Given the description of an element on the screen output the (x, y) to click on. 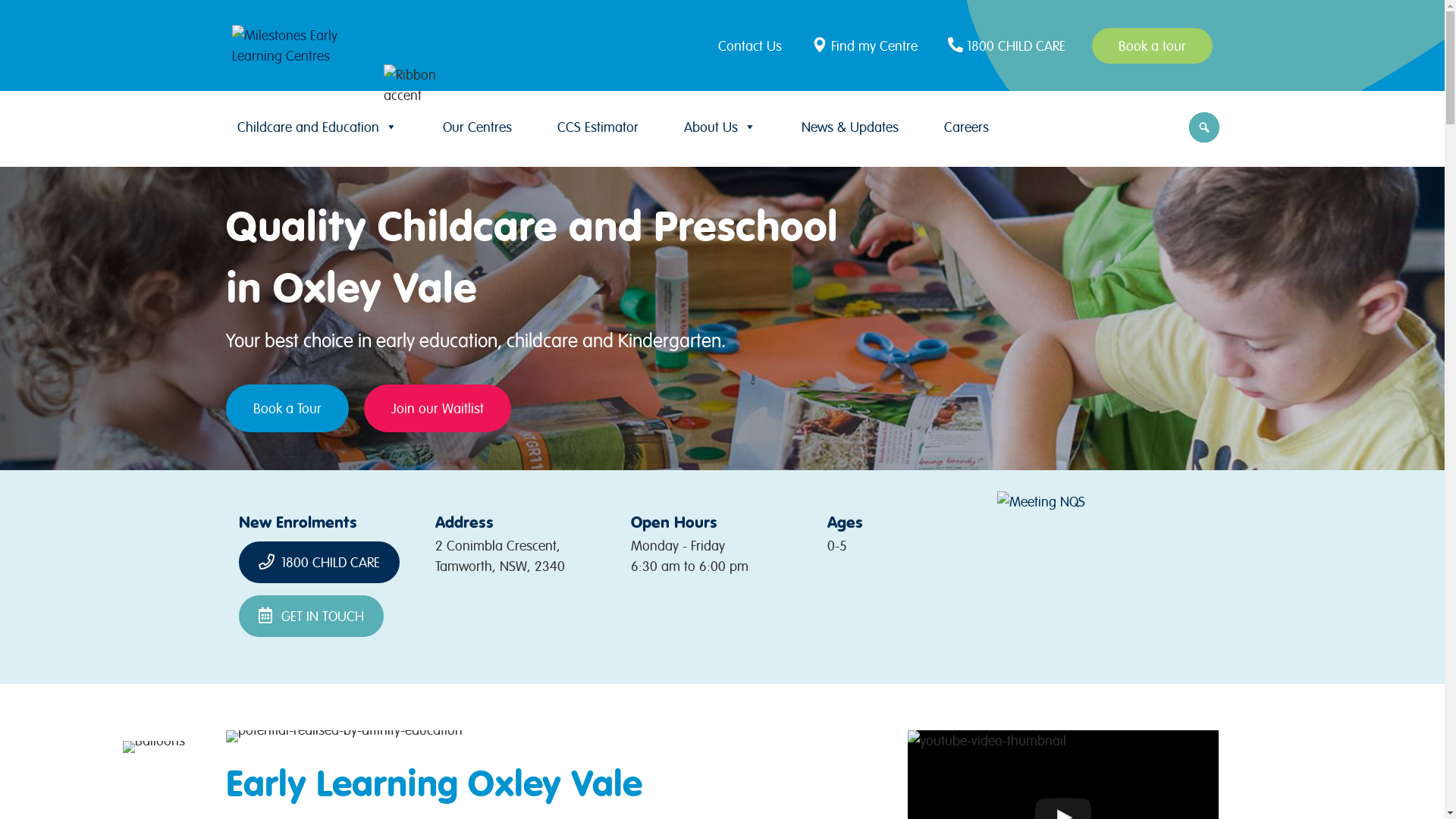
1800 CHILD CARE Element type: text (318, 562)
Join our Waitlist Element type: text (437, 408)
Childcare and Education Element type: text (316, 127)
potential-realised-by-affinity-education Element type: hover (343, 736)
Book a tour Element type: text (1152, 44)
Careers Element type: text (965, 127)
GET IN TOUCH Element type: text (310, 616)
Contact Us Element type: text (753, 44)
Book a Tour Element type: text (286, 408)
Our Centres Element type: text (477, 127)
CCS Estimator Element type: text (597, 127)
Search Element type: text (15, 17)
balloons Element type: hover (153, 746)
About Us Element type: text (719, 127)
Find my Centre Element type: text (866, 44)
1800 CHILD CARE Element type: text (1008, 44)
News & Updates Element type: text (849, 127)
